Given the description of an element on the screen output the (x, y) to click on. 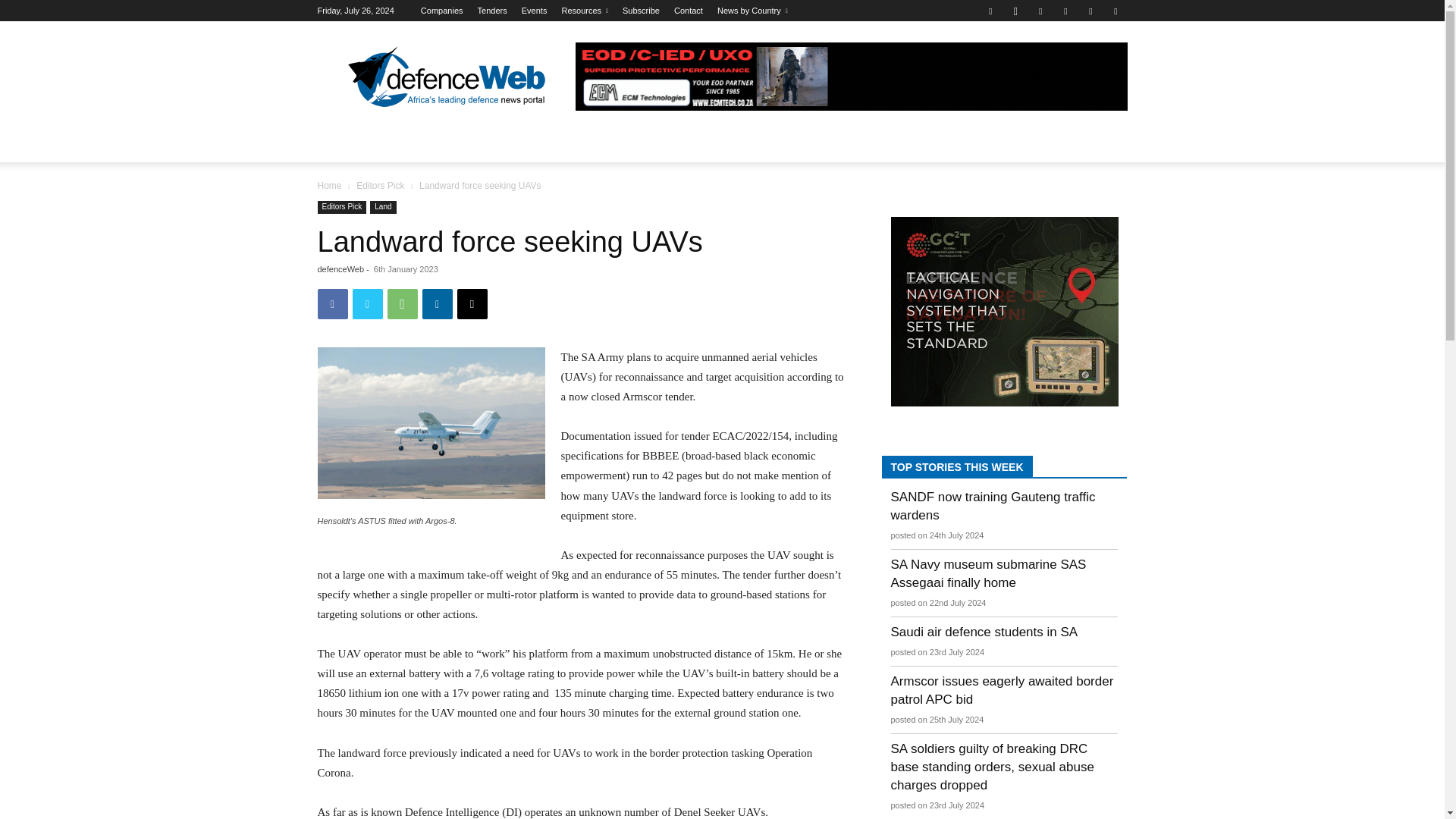
Instagram (1015, 10)
Facebook (989, 10)
Linkedin (1040, 10)
Twitter (1090, 10)
Mail (1065, 10)
Youtube (1114, 10)
